Given the description of an element on the screen output the (x, y) to click on. 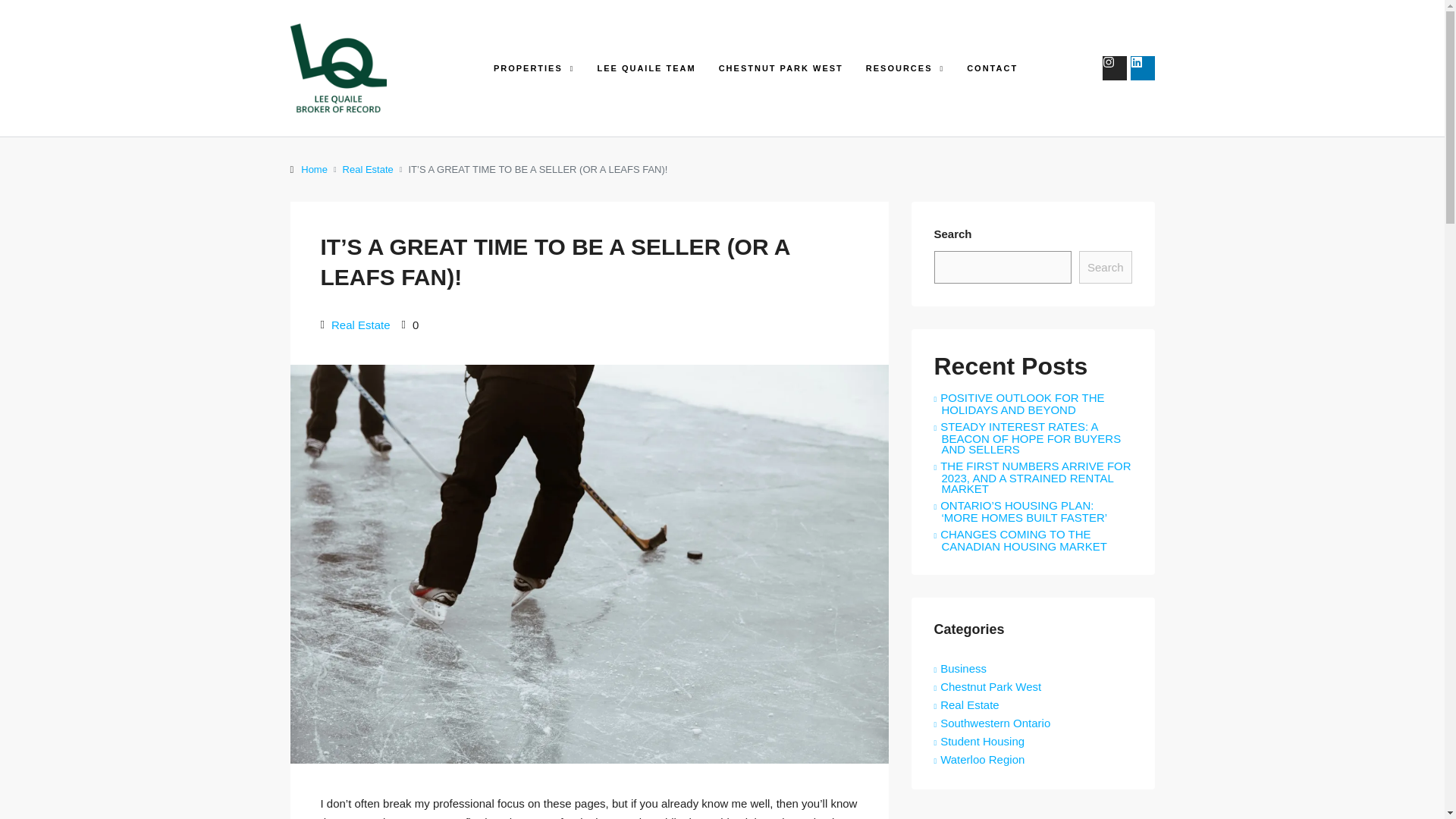
LEE QUAILE TEAM (645, 68)
CHESTNUT PARK WEST (780, 68)
PROPERTIES (533, 68)
CONTACT (992, 68)
RESOURCES (904, 68)
